Given the description of an element on the screen output the (x, y) to click on. 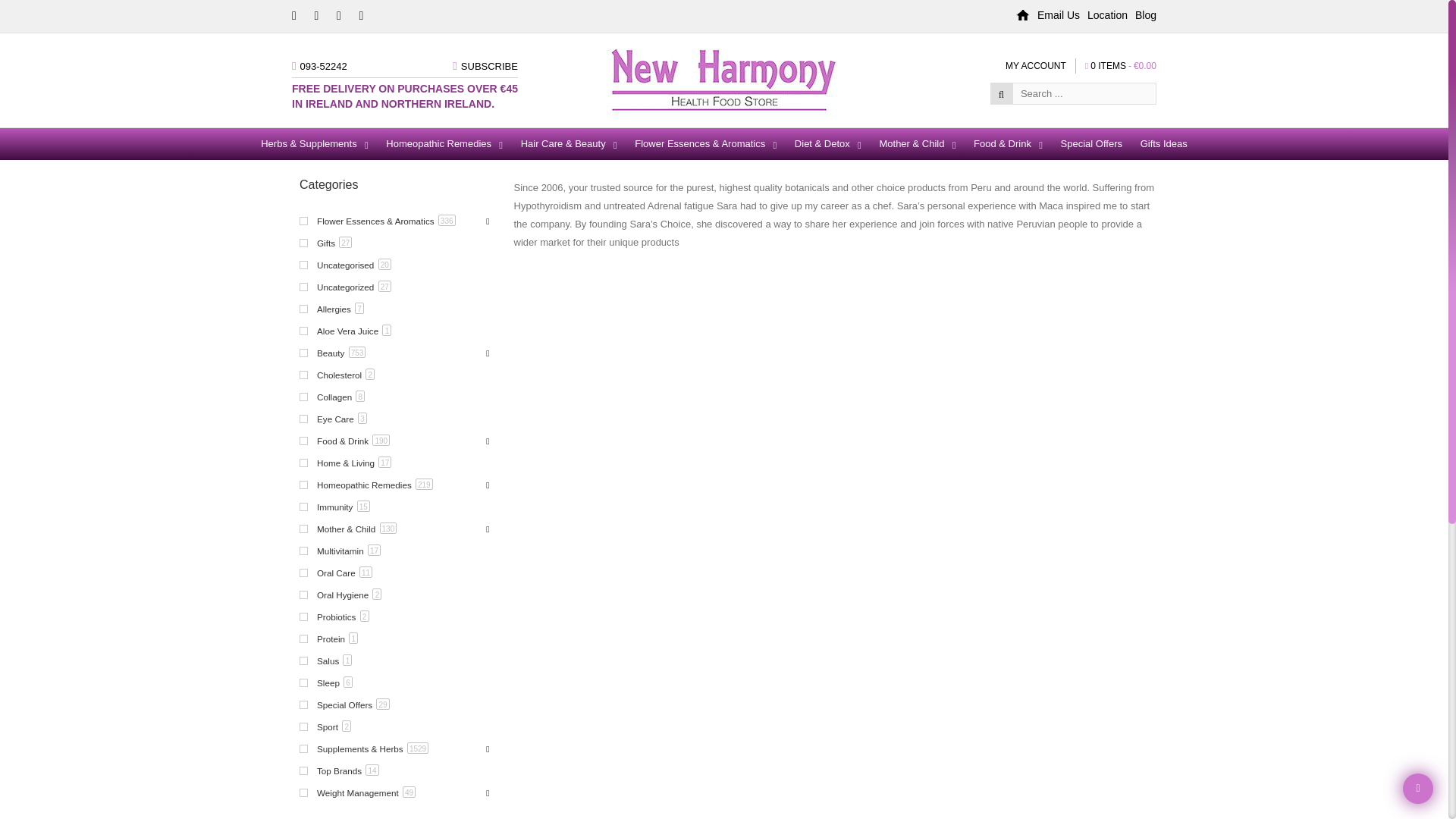
Special Offers (1090, 143)
Start shopping (1115, 65)
Gifts Ideas (1163, 143)
Email Us (1061, 15)
Location (1111, 15)
MY ACCOUNT (1040, 65)
SUBSCRIBE (489, 66)
MY ACCOUNT (1040, 65)
Blog (1145, 15)
Homeopathic Remedies (444, 143)
